Given the description of an element on the screen output the (x, y) to click on. 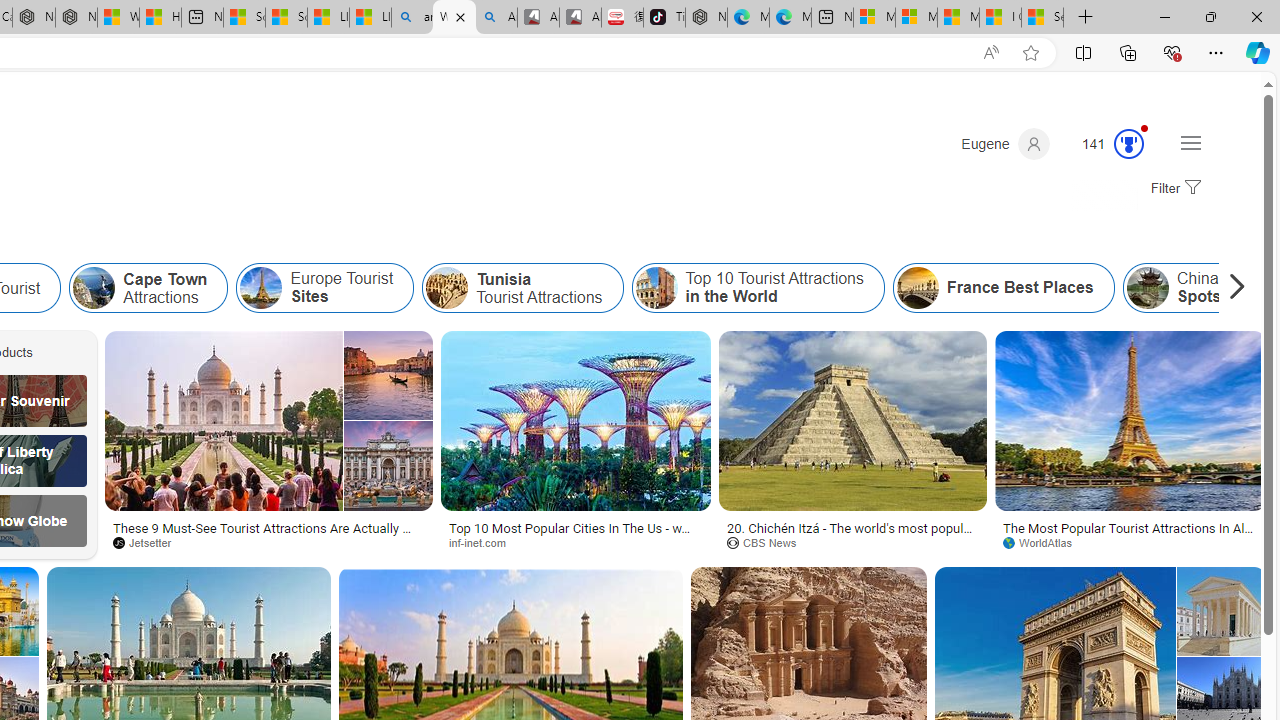
France Best Places (918, 287)
Europe Tourist Sites (324, 287)
inf-inet.com (575, 542)
Scroll right (1231, 287)
Class: outer-circle-animation (1129, 143)
Cape Town Attractions (148, 287)
Image result for World tourist attraction (1221, 611)
